Given the description of an element on the screen output the (x, y) to click on. 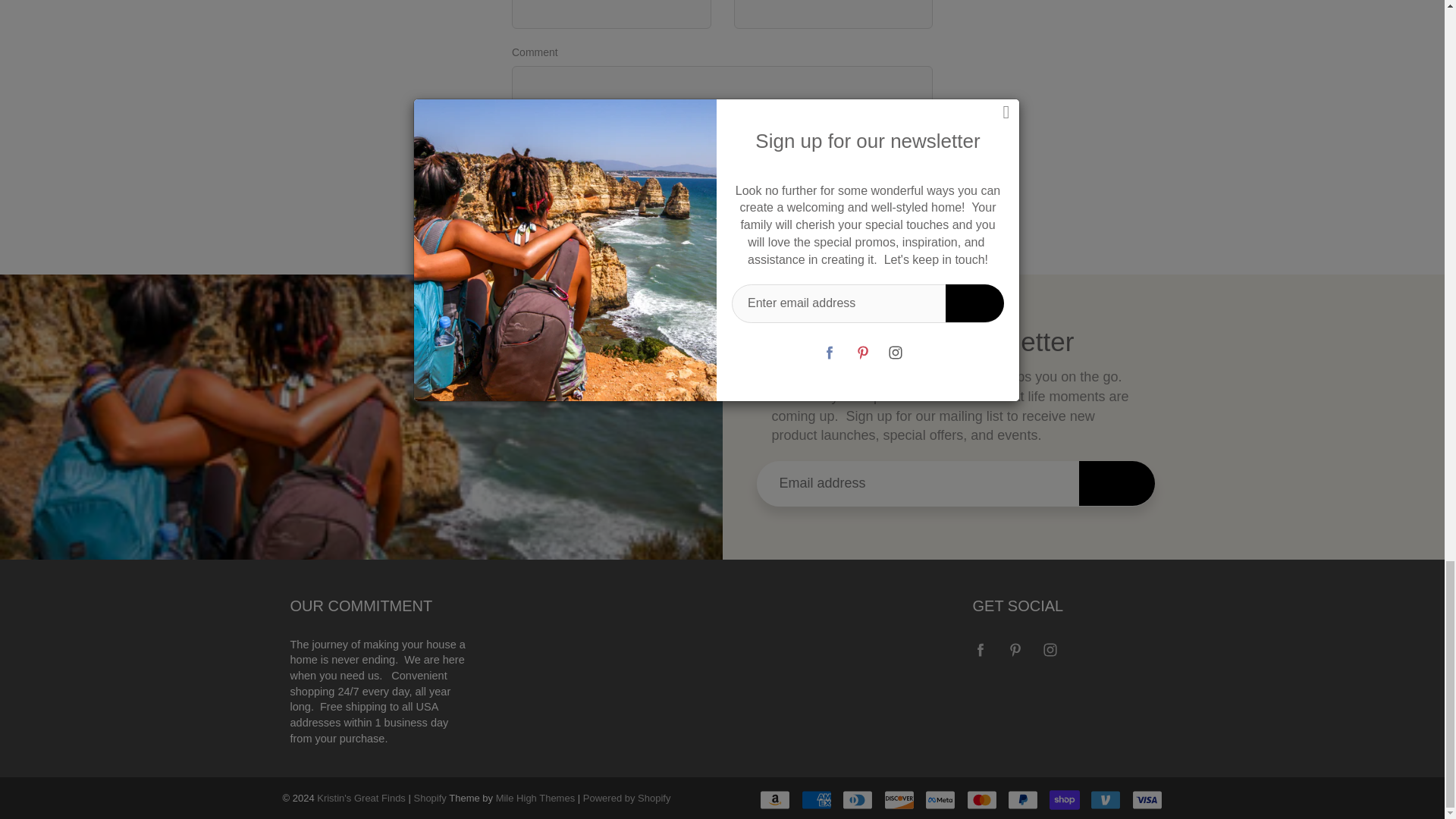
Amazon (775, 799)
American Express (816, 799)
Discover (898, 799)
Mastercard (981, 799)
PayPal (1022, 799)
Visa (1146, 799)
Venmo (1105, 799)
Meta Pay (939, 799)
Diners Club (857, 799)
Shop Pay (1064, 799)
